Given the description of an element on the screen output the (x, y) to click on. 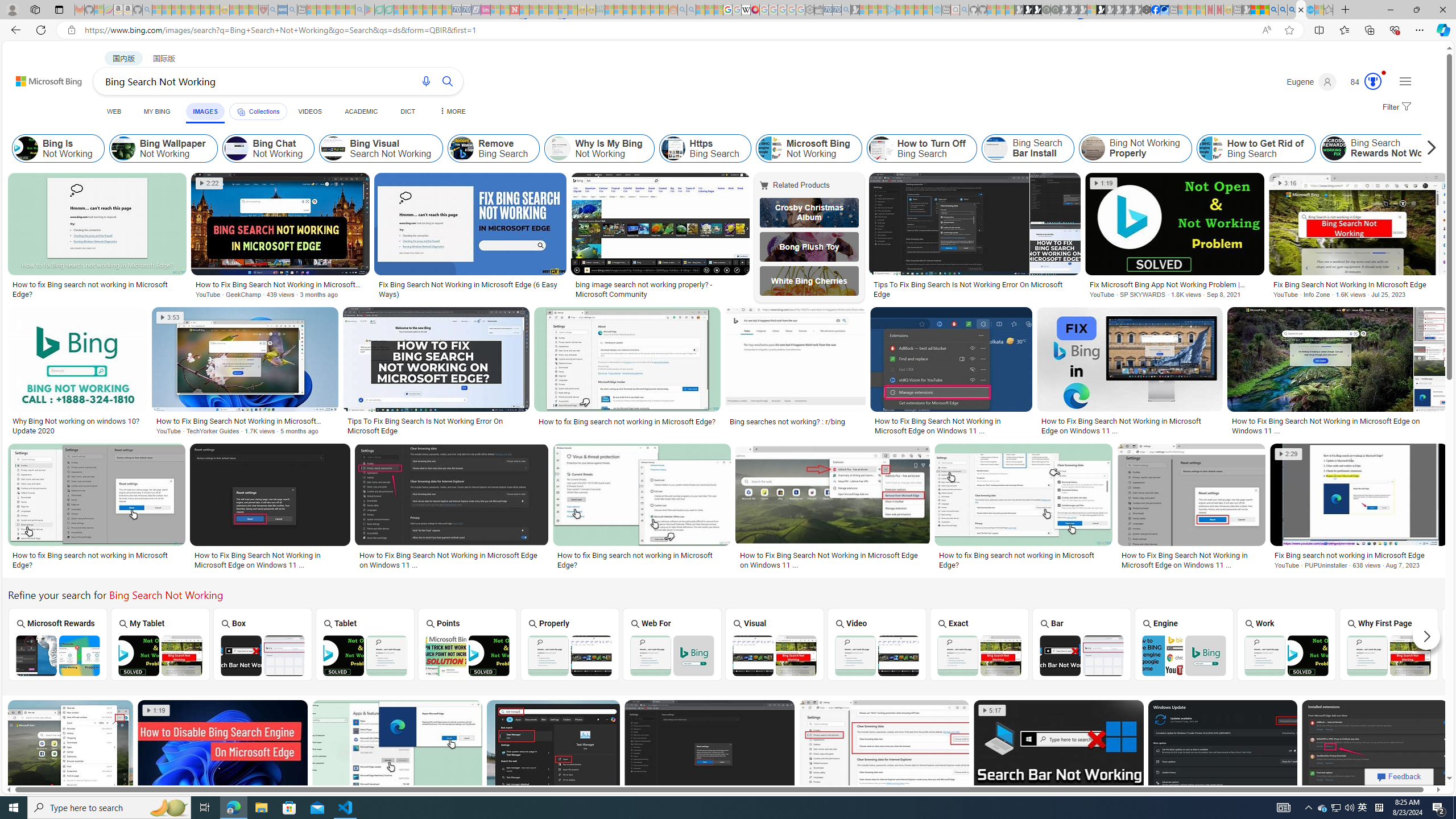
MY BING (156, 111)
Web For (671, 643)
Microsoft Rewards Bing Search Not Working (57, 655)
How to fix Bing search not working in Microsoft Edge? (1023, 560)
Bing Search Bar Not Working (1080, 655)
Bing Crosby Christmas Album (809, 212)
